Given the description of an element on the screen output the (x, y) to click on. 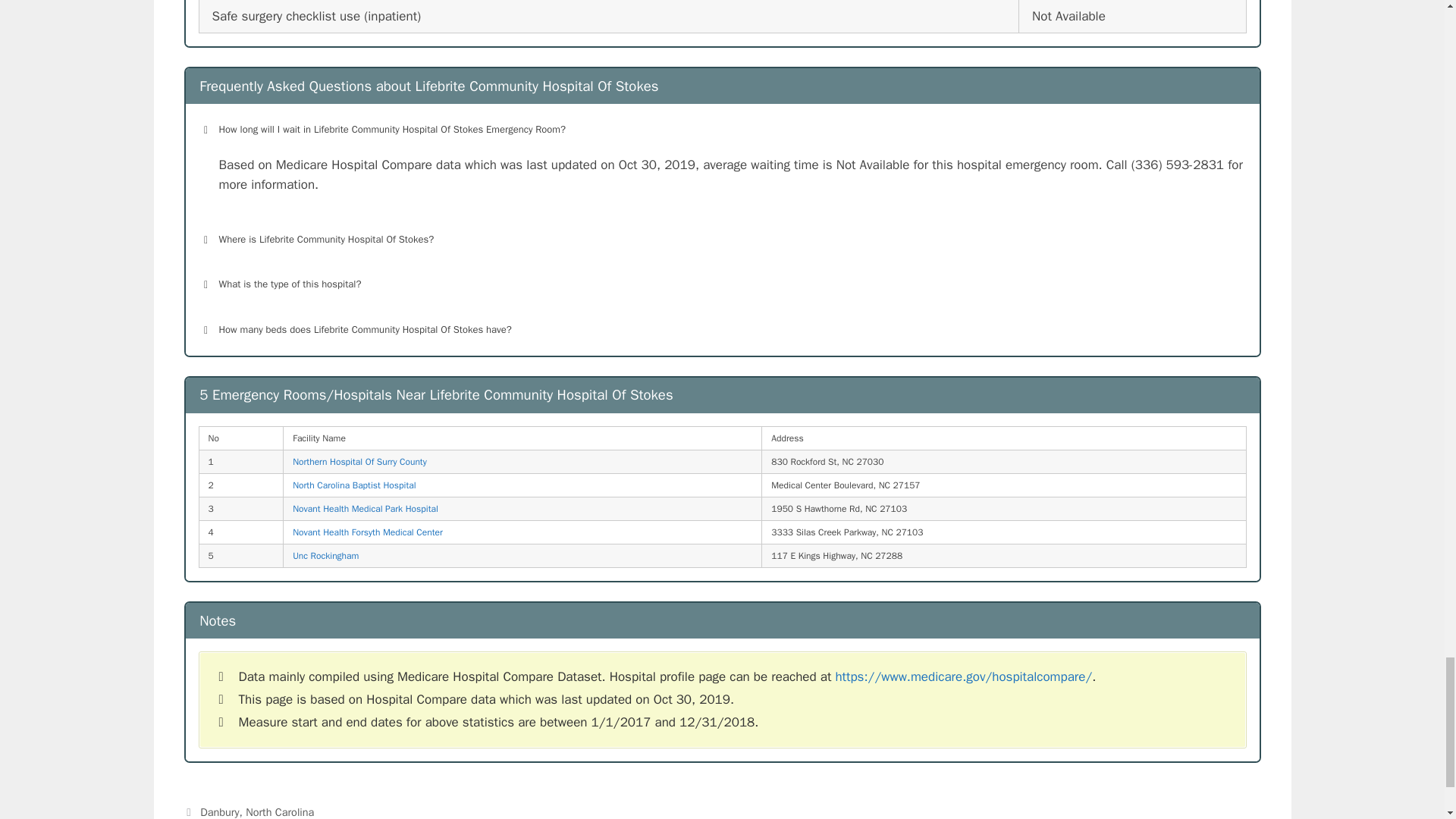
Danbury (219, 812)
North Carolina (280, 812)
Northern Hospital Of Surry County (359, 461)
Novant Health Medical Park Hospital (365, 508)
Novant Health Forsyth Medical Center (367, 532)
North Carolina Baptist Hospital (353, 485)
Unc Rockingham (325, 555)
